Given the description of an element on the screen output the (x, y) to click on. 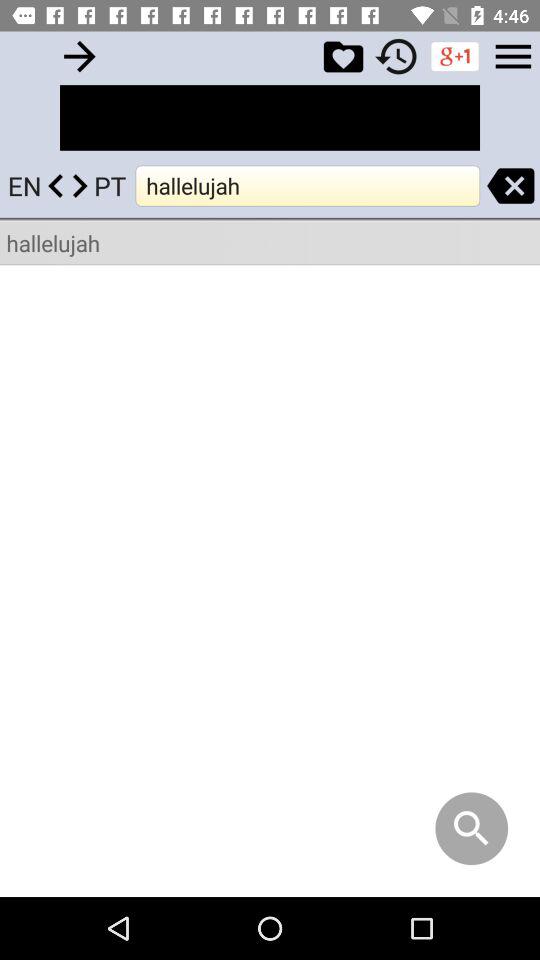
search close button (510, 185)
